Given the description of an element on the screen output the (x, y) to click on. 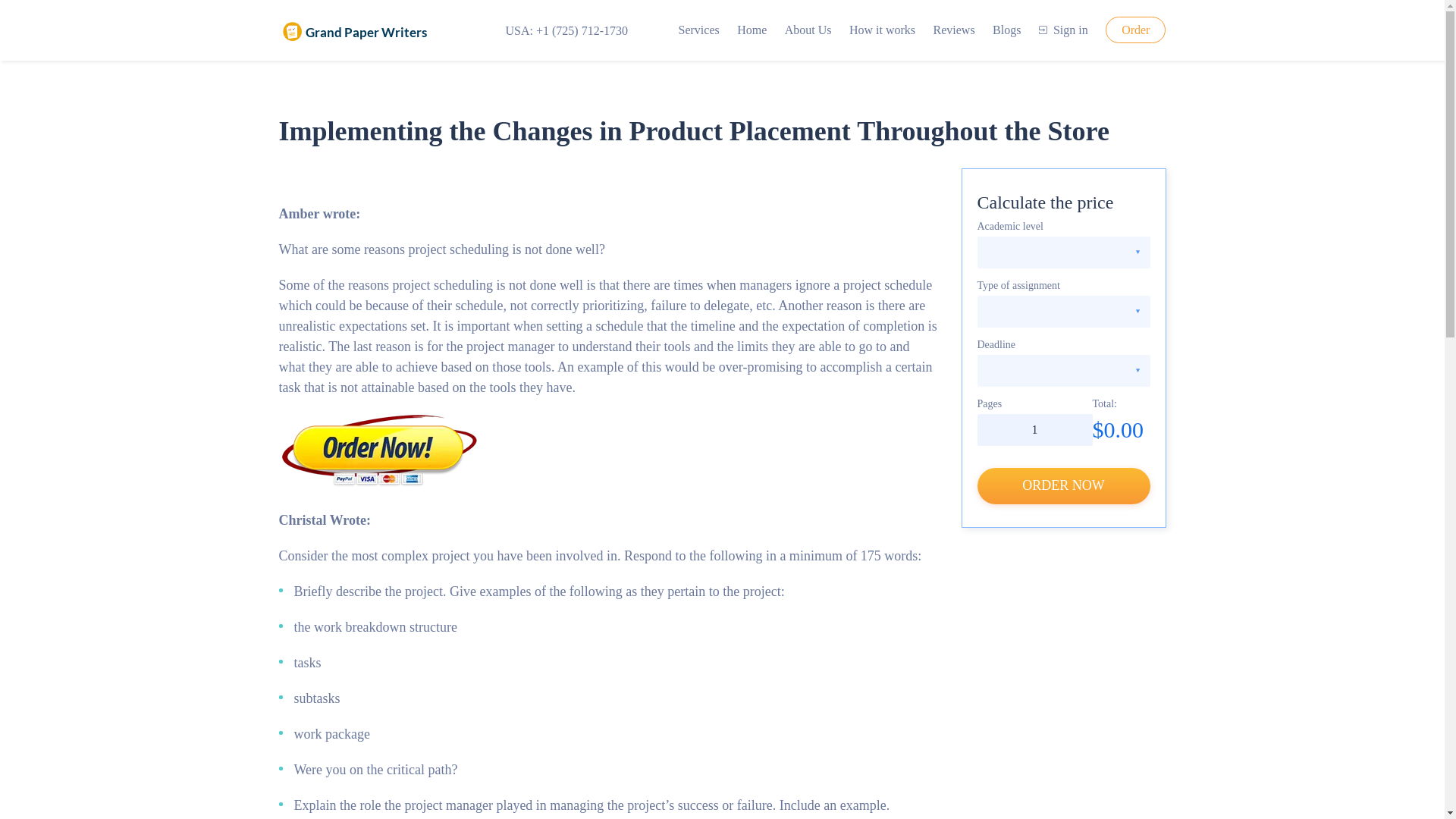
Home (751, 29)
About Us (807, 29)
Sign in (1063, 29)
How it works (881, 29)
1 (1034, 429)
Order (1135, 29)
Blogs (1006, 29)
Reviews (954, 29)
